Given the description of an element on the screen output the (x, y) to click on. 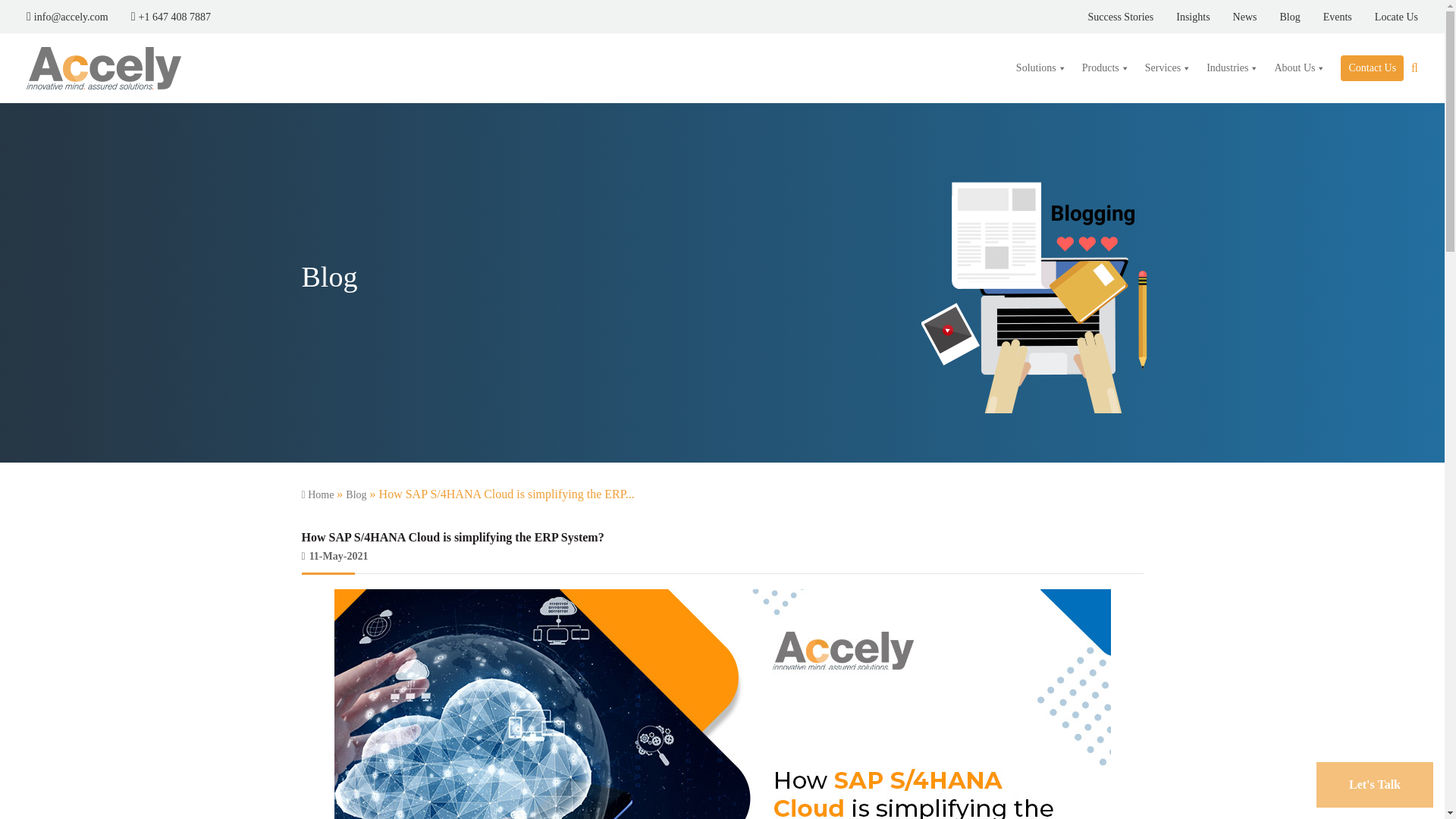
Locate Us (1385, 16)
Insights (1181, 16)
About Us (1299, 68)
Contact Us (1371, 68)
Services (1167, 68)
Blog (1278, 16)
News (1233, 16)
Events (1326, 16)
Solutions (1041, 68)
Products (1105, 68)
Let's Talk (1374, 784)
Success Stories (1109, 16)
Home (317, 494)
Industries (1232, 68)
Blog (356, 494)
